Given the description of an element on the screen output the (x, y) to click on. 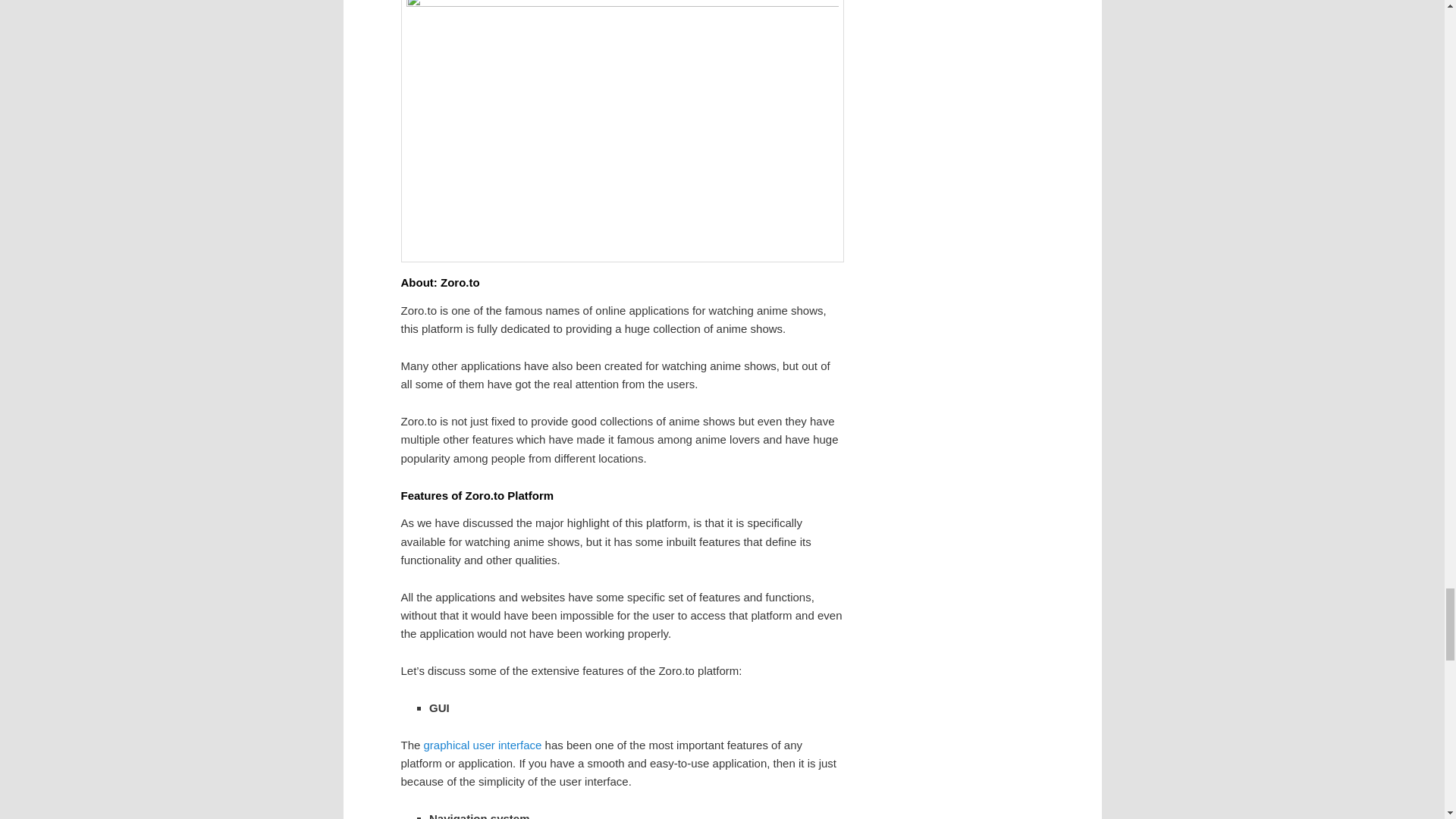
graphical user interface (482, 744)
